Given the description of an element on the screen output the (x, y) to click on. 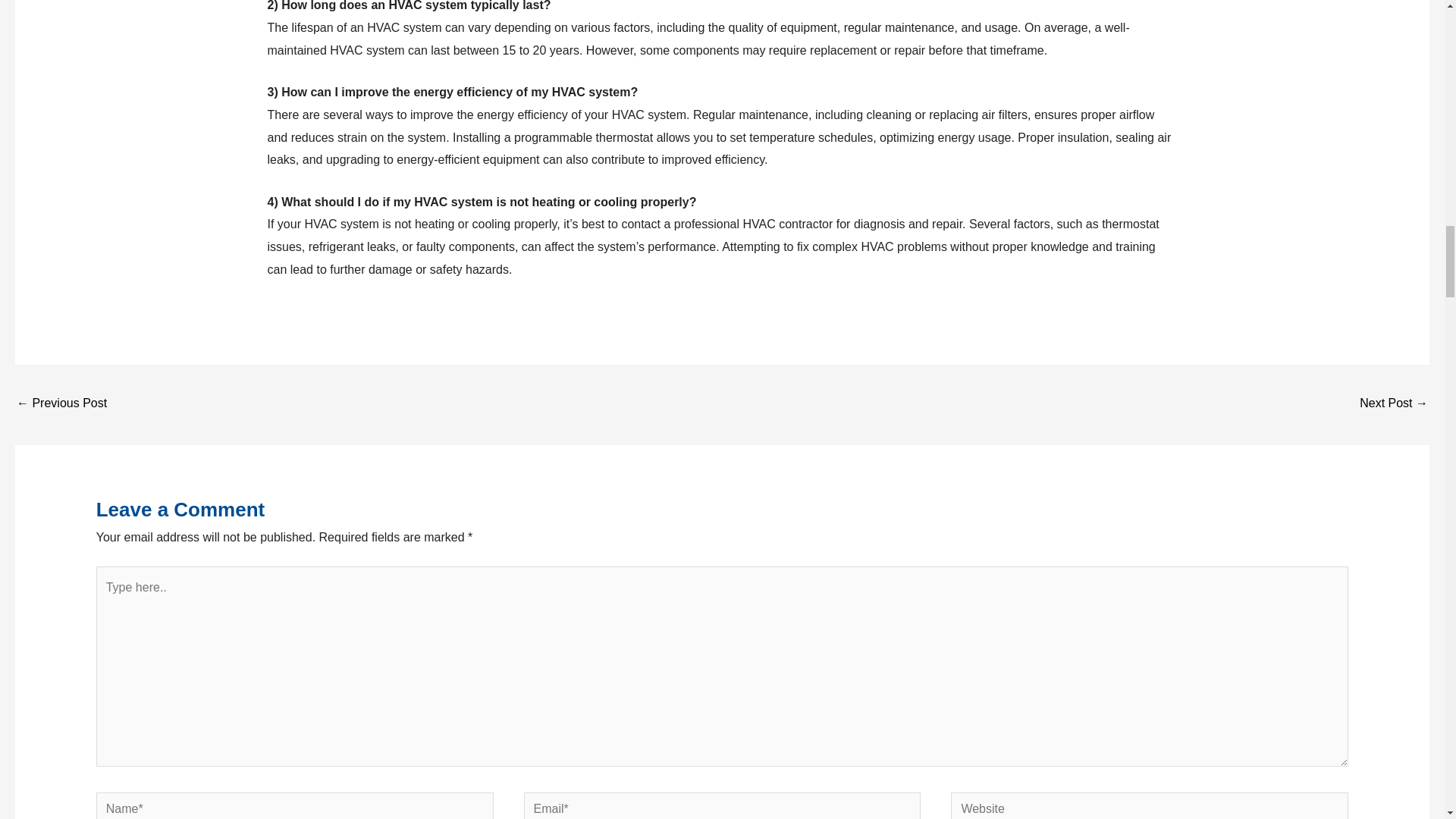
What is hard water, and how does a water softener help? (1393, 404)
Joining Our Maintenance Plan Helps with Your Repairs (61, 404)
